Given the description of an element on the screen output the (x, y) to click on. 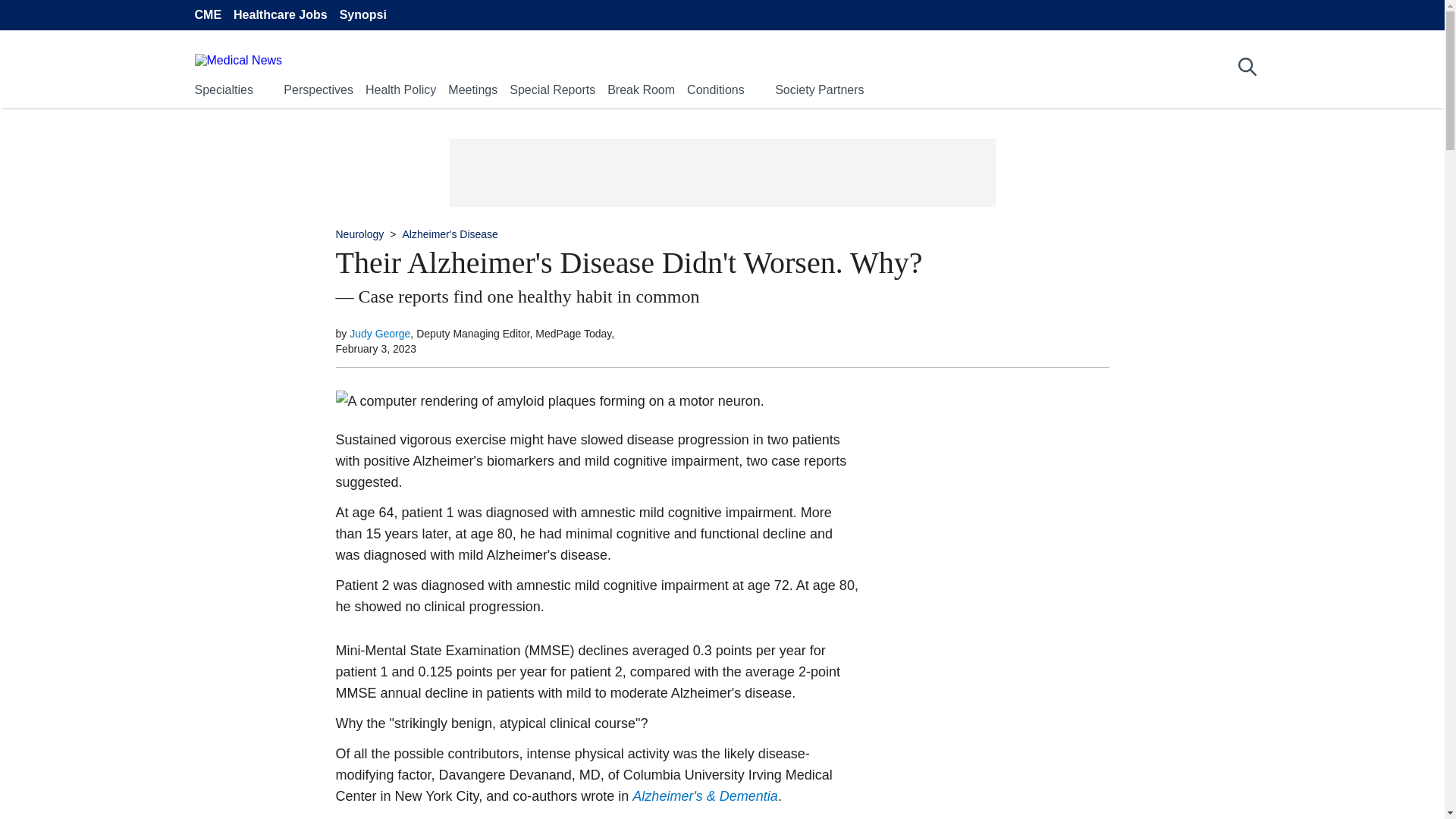
Specialties (222, 89)
CME (207, 15)
Synopsi (363, 15)
Healthcare Jobs (279, 15)
